Given the description of an element on the screen output the (x, y) to click on. 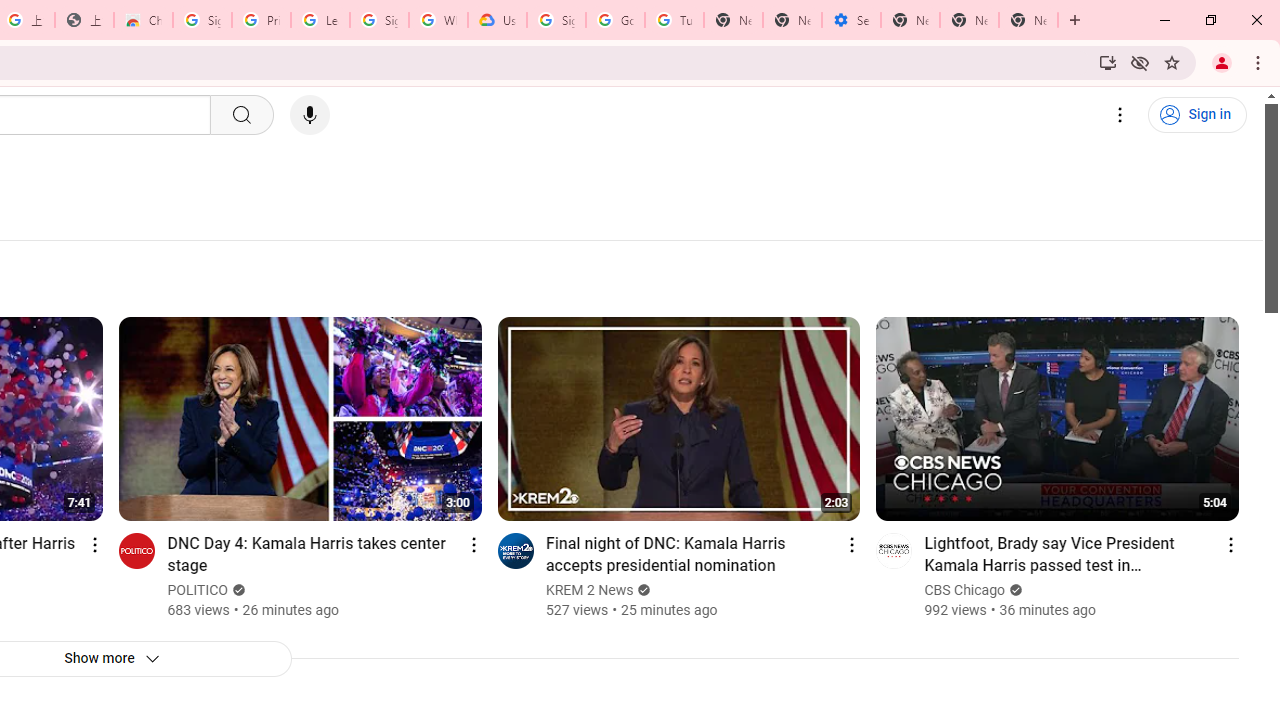
CBS Chicago (965, 590)
Chrome Web Store (142, 20)
KREM 2 News (589, 590)
Sign in - Google Accounts (379, 20)
Third-party cookies blocked (1139, 62)
Settings - Addresses and more (850, 20)
Install YouTube (1107, 62)
Google Account Help (615, 20)
Verified (1014, 590)
Search with your voice (309, 115)
